Given the description of an element on the screen output the (x, y) to click on. 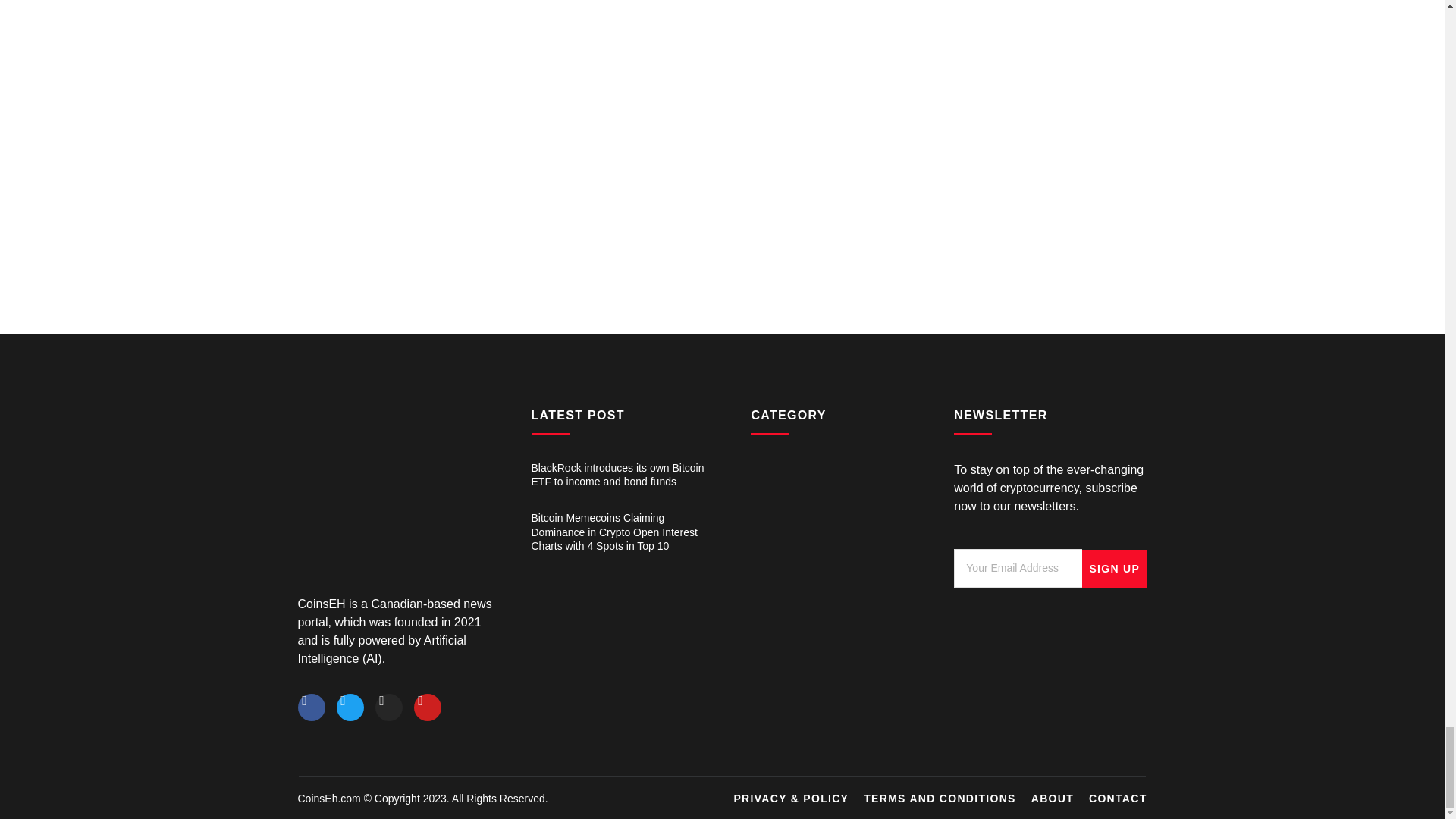
Powered by Upshot Firm (546, 798)
